Given the description of an element on the screen output the (x, y) to click on. 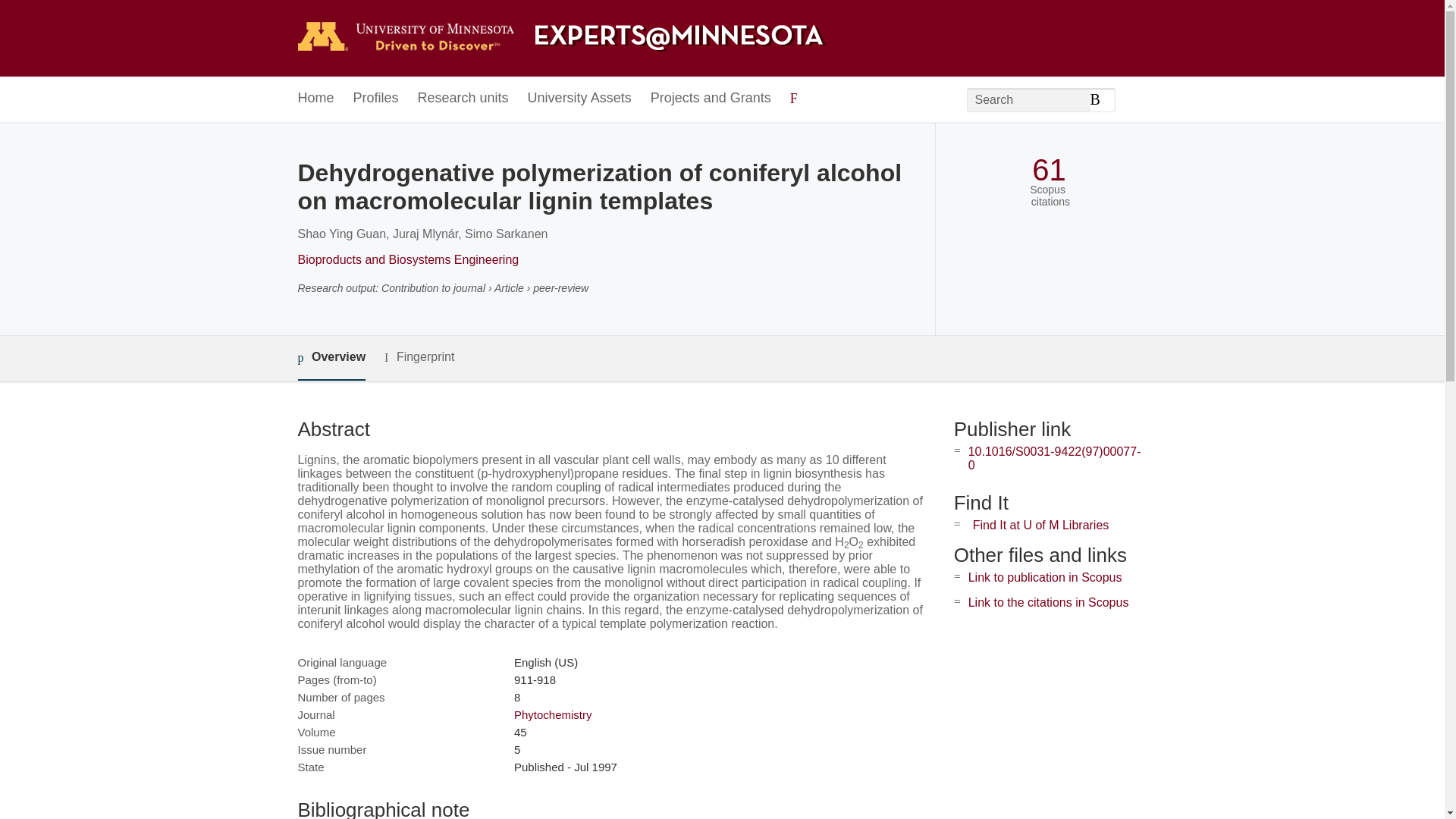
Fingerprint (419, 357)
Bioproducts and Biosystems Engineering (407, 259)
Find It at U of M Libraries (1040, 524)
Link to publication in Scopus (1045, 576)
61 (1048, 170)
Research units (462, 98)
Link to the citations in Scopus (1048, 602)
Profiles (375, 98)
Overview (331, 357)
Phytochemistry (552, 714)
